Given the description of an element on the screen output the (x, y) to click on. 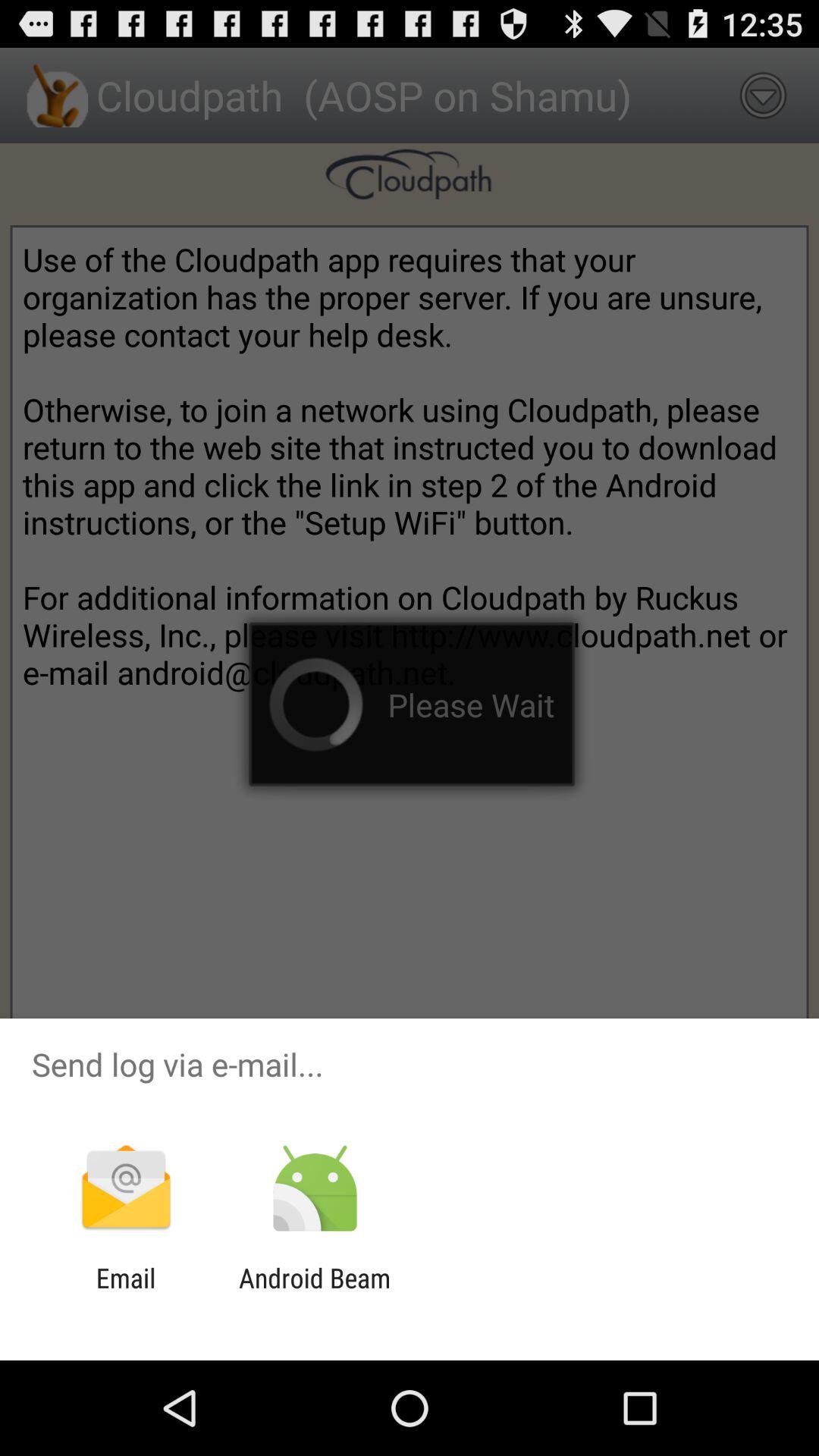
tap the android beam item (314, 1293)
